Given the description of an element on the screen output the (x, y) to click on. 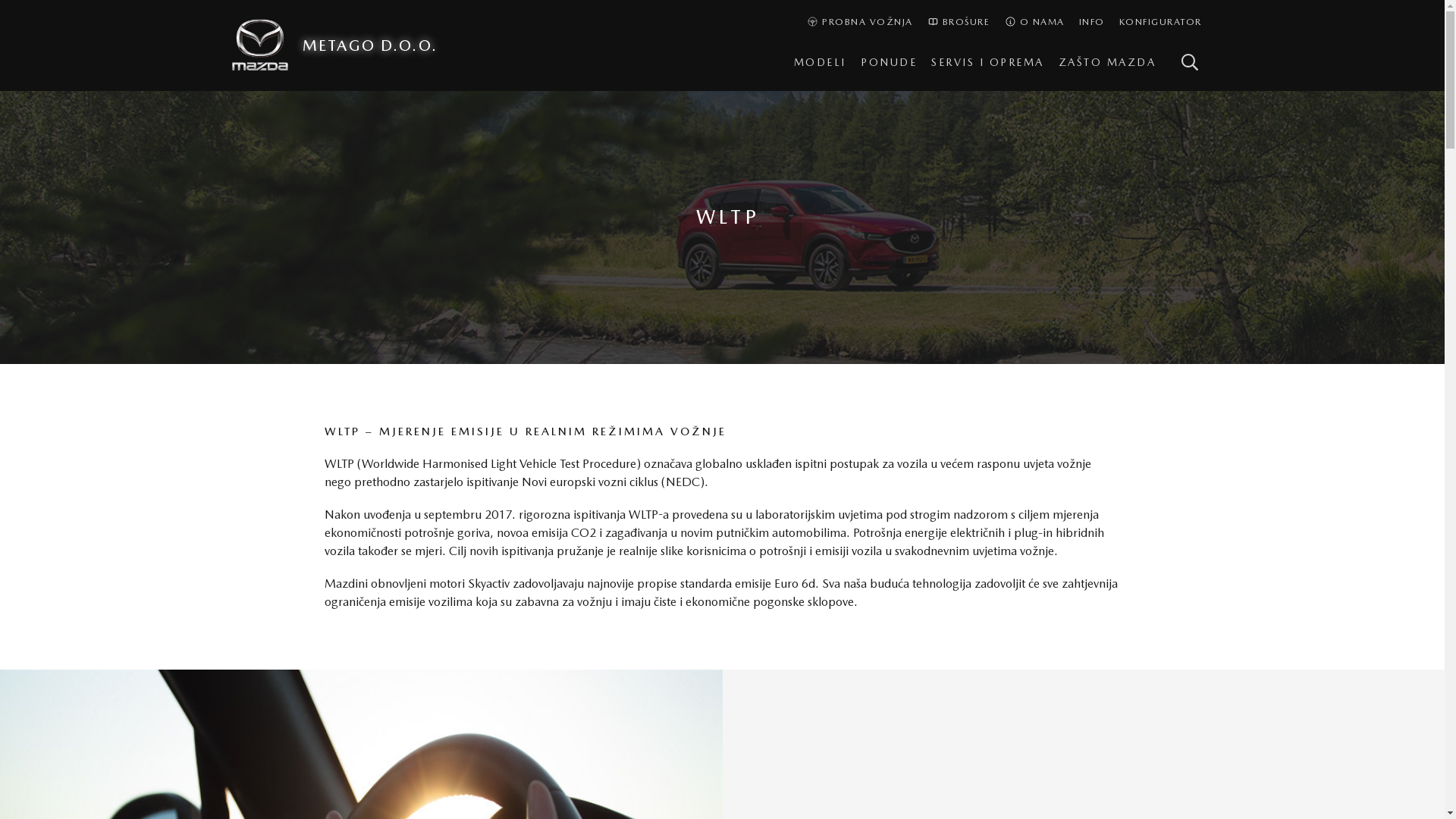
INFO Element type: text (1091, 22)
KONFIGURATOR Element type: text (1160, 22)
SERVIS I OPREMA Element type: text (987, 62)
Mazda BiH Element type: hover (267, 45)
O NAMA Element type: text (1034, 22)
MODELI Element type: text (820, 62)
PONUDE Element type: text (888, 62)
